Given the description of an element on the screen output the (x, y) to click on. 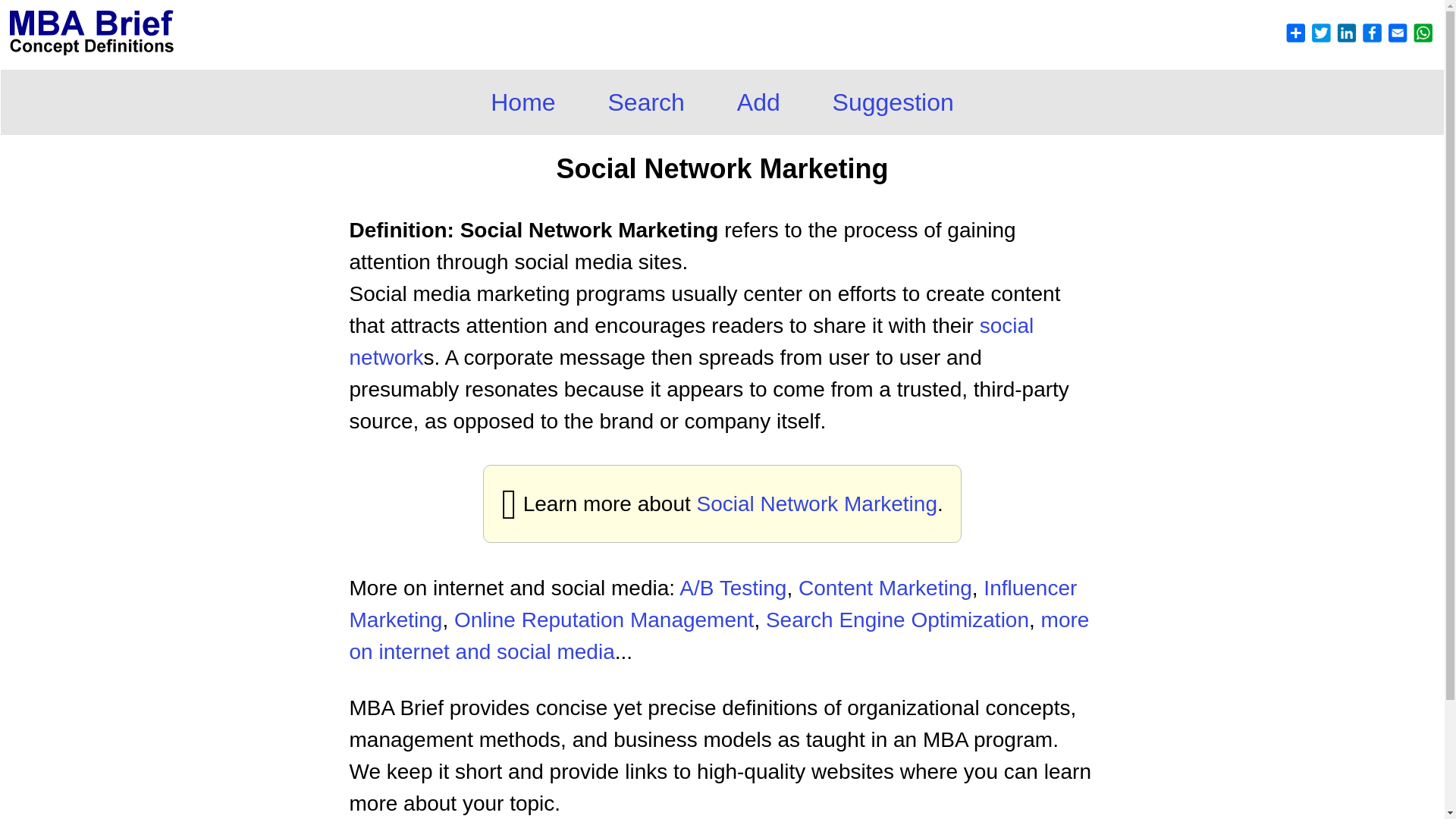
Internet and Social Media methods and models (719, 635)
Influencer Marketing (713, 603)
Suggestion (892, 102)
Search Engine Optimization (897, 619)
Home (522, 102)
search (817, 503)
Content Marketing (884, 587)
Add (758, 102)
Online Reputation Management (604, 619)
Social Network Marketing (817, 503)
